Given the description of an element on the screen output the (x, y) to click on. 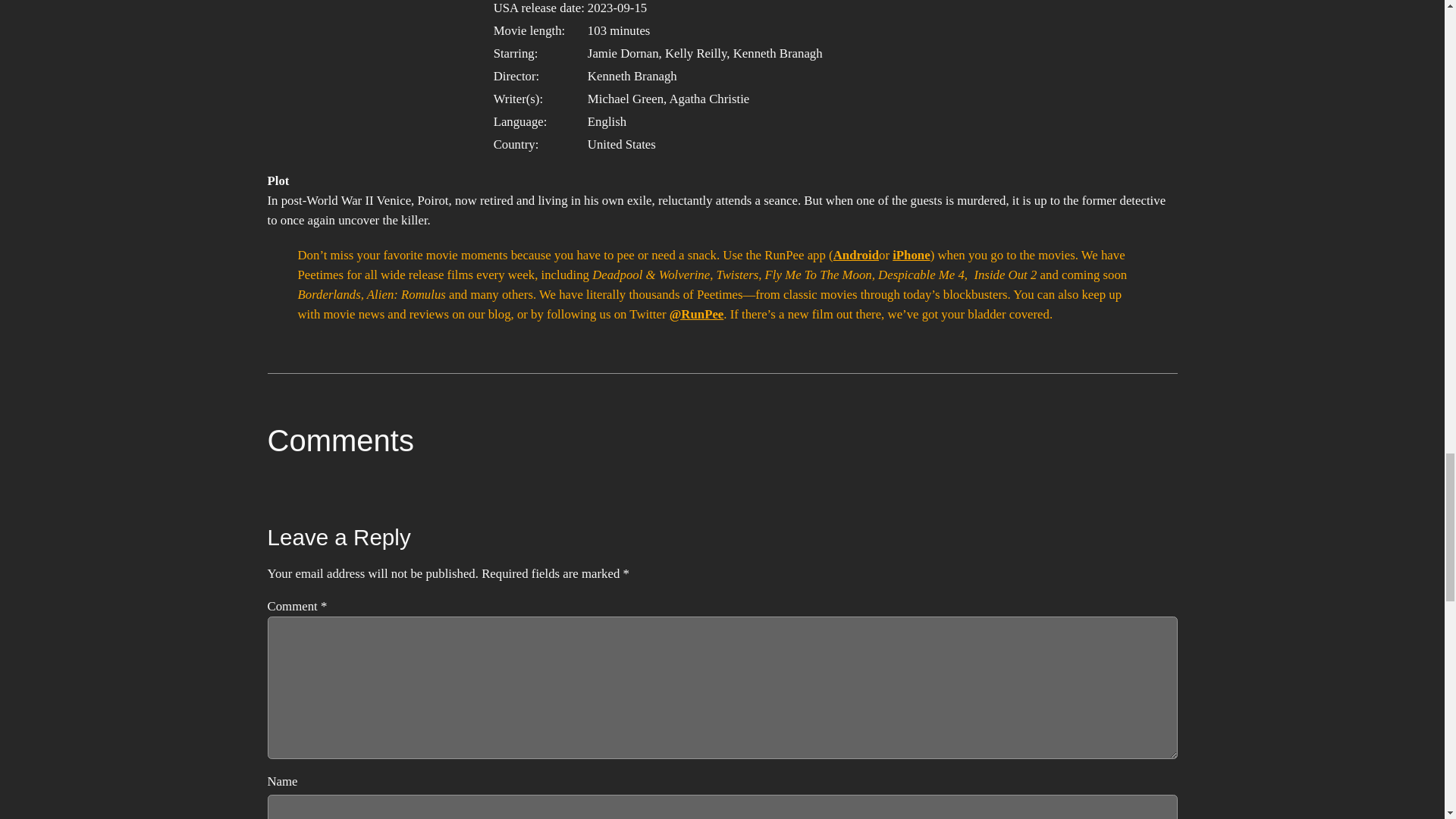
Android (855, 255)
iPhone (911, 255)
